Given the description of an element on the screen output the (x, y) to click on. 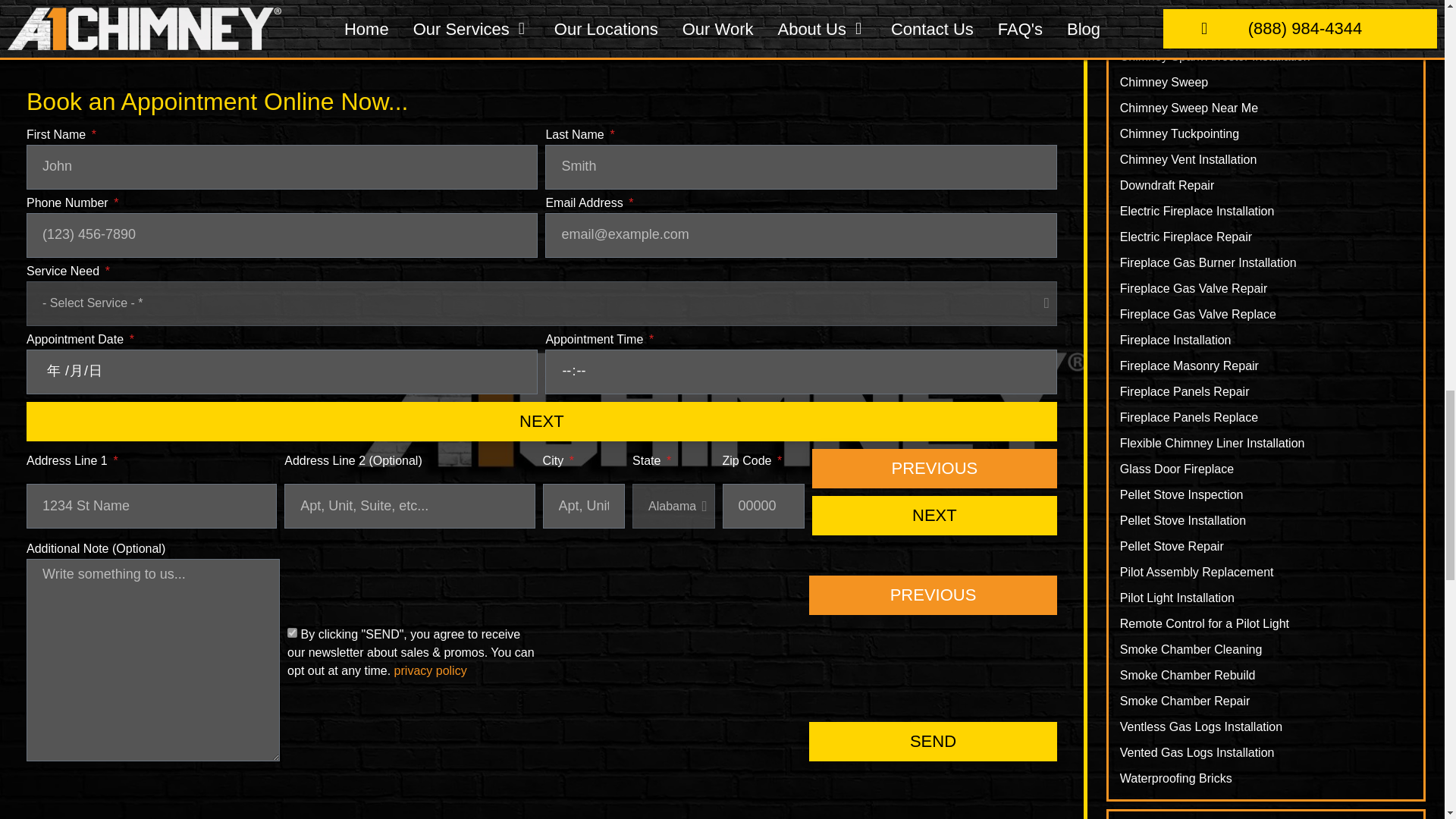
on (291, 633)
